Given the description of an element on the screen output the (x, y) to click on. 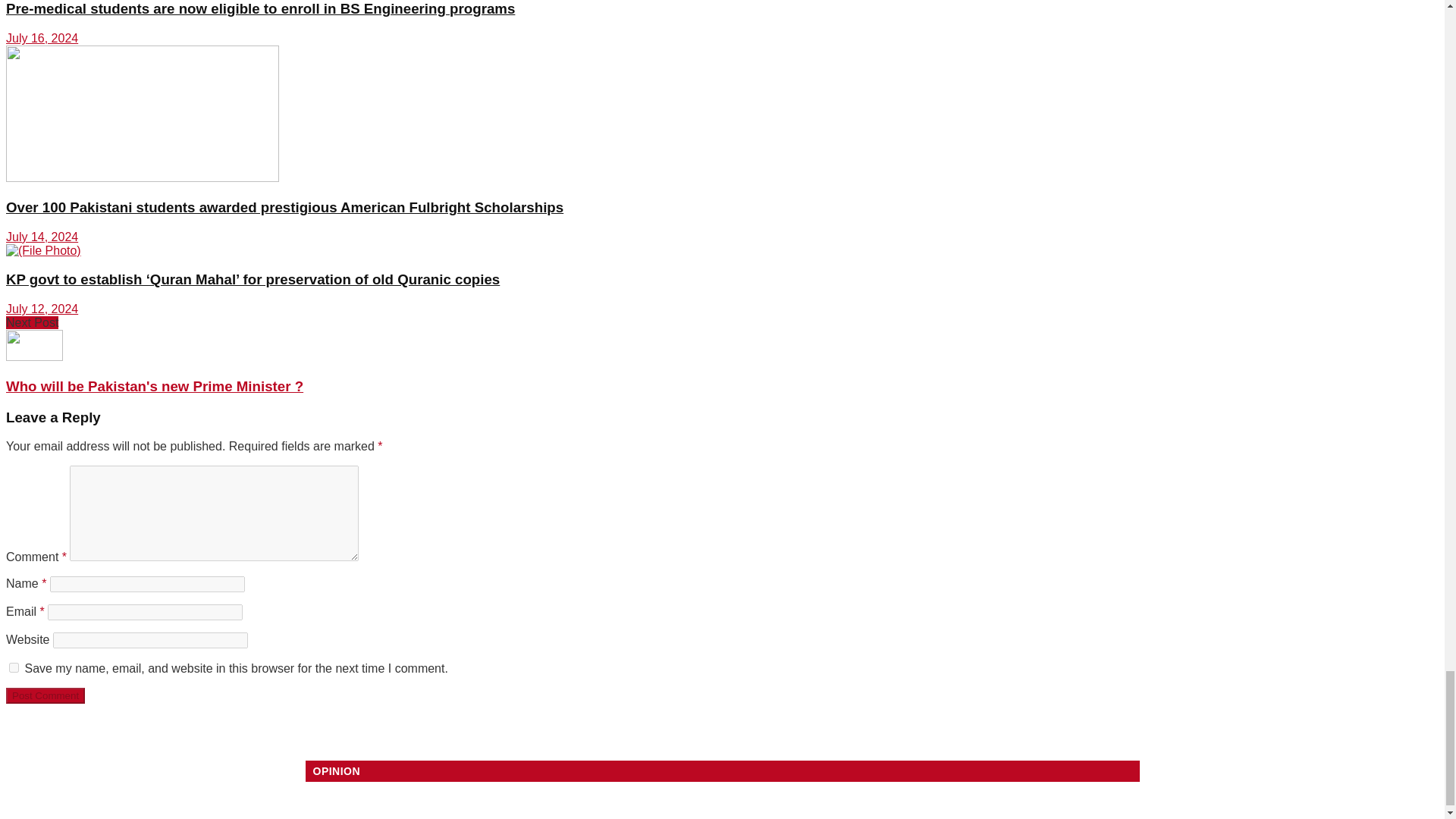
yes (13, 667)
Post Comment (44, 695)
